Given the description of an element on the screen output the (x, y) to click on. 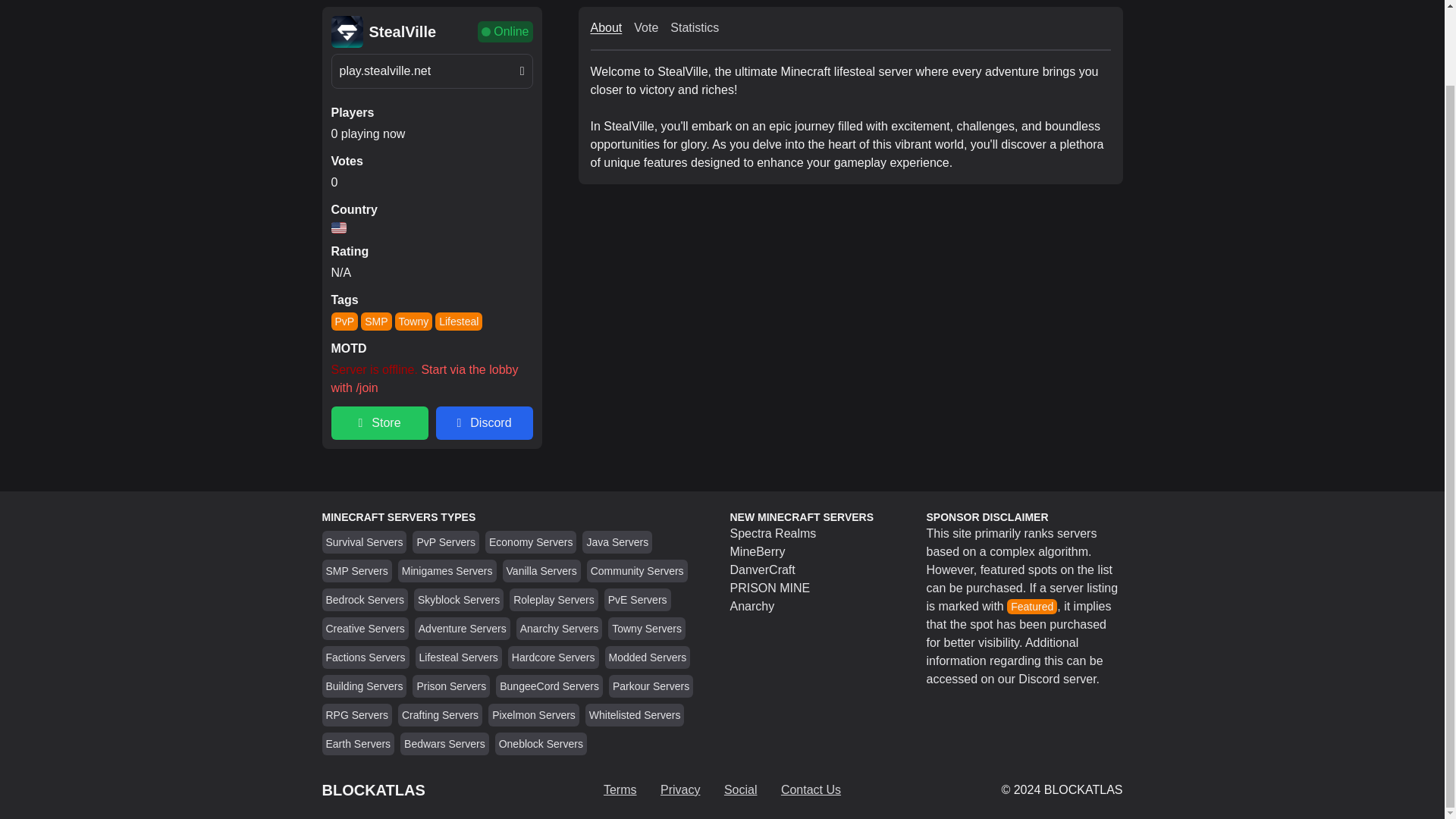
Towny (413, 321)
Store (379, 422)
Vote (645, 27)
PvP (344, 321)
Statistics (694, 27)
PvE Servers (637, 599)
Bedrock Servers (365, 599)
SMP (376, 321)
Survival Servers (364, 541)
PvP Servers (446, 541)
